Given the description of an element on the screen output the (x, y) to click on. 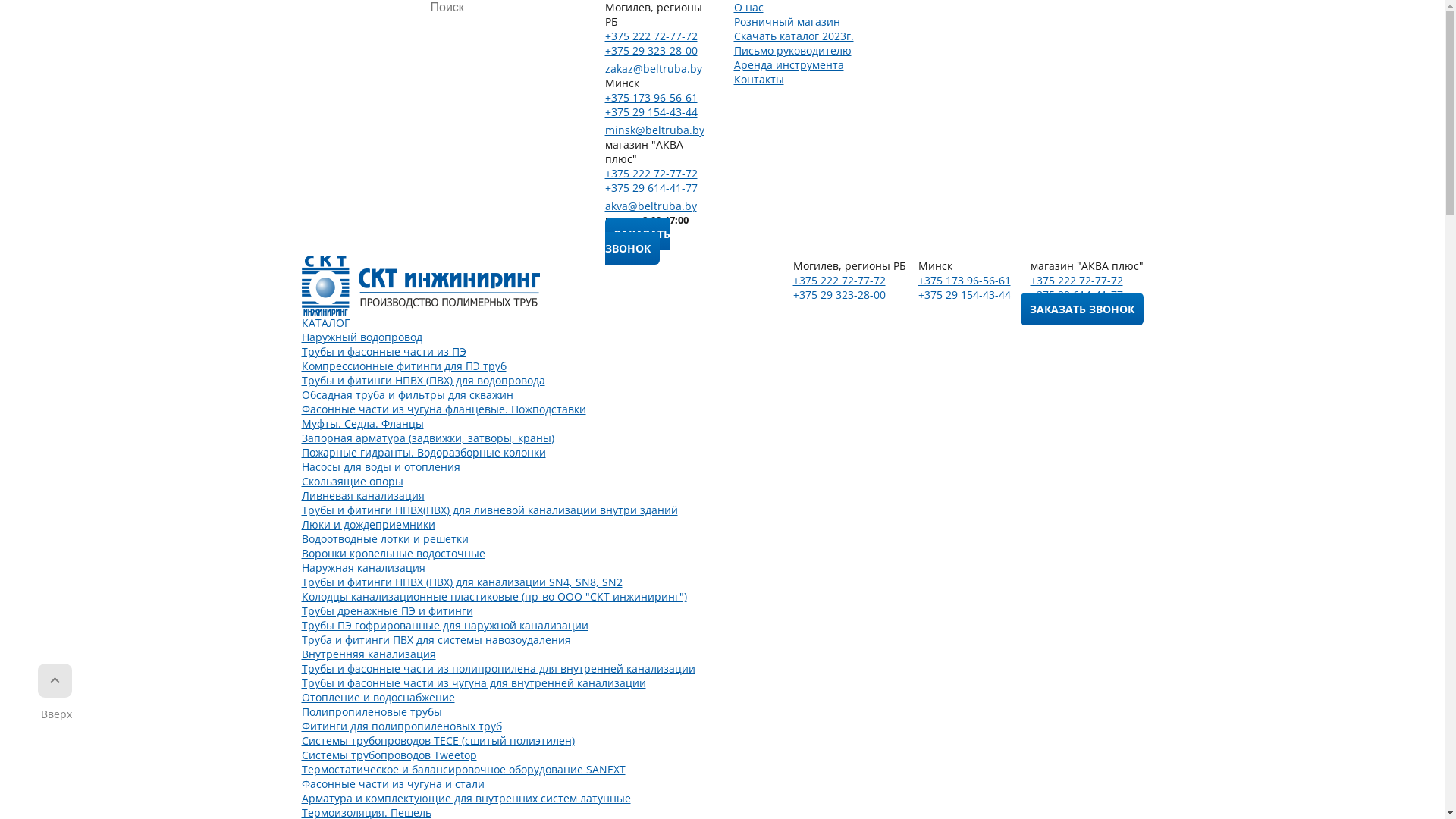
+375 222 72-77-72 Element type: text (839, 280)
+375 29 614-41-77 Element type: text (651, 187)
minsk@beltruba.by Element type: text (654, 129)
+375 29 323-28-00 Element type: text (839, 294)
zakaz@beltruba.by Element type: text (653, 68)
akva@beltruba.by Element type: text (650, 205)
+375 222 72-77-72 Element type: text (651, 173)
+375 29 323-28-00 Element type: text (651, 50)
+375 222 72-77-72 Element type: text (651, 35)
+375 29 154-43-44 Element type: text (651, 111)
+375 173 96-56-61 Element type: text (651, 97)
+375 173 96-56-61 Element type: text (963, 280)
+375 29 154-43-44 Element type: text (963, 294)
+375 29 614-41-77 Element type: text (1075, 294)
+375 222 72-77-72 Element type: text (1075, 280)
